Given the description of an element on the screen output the (x, y) to click on. 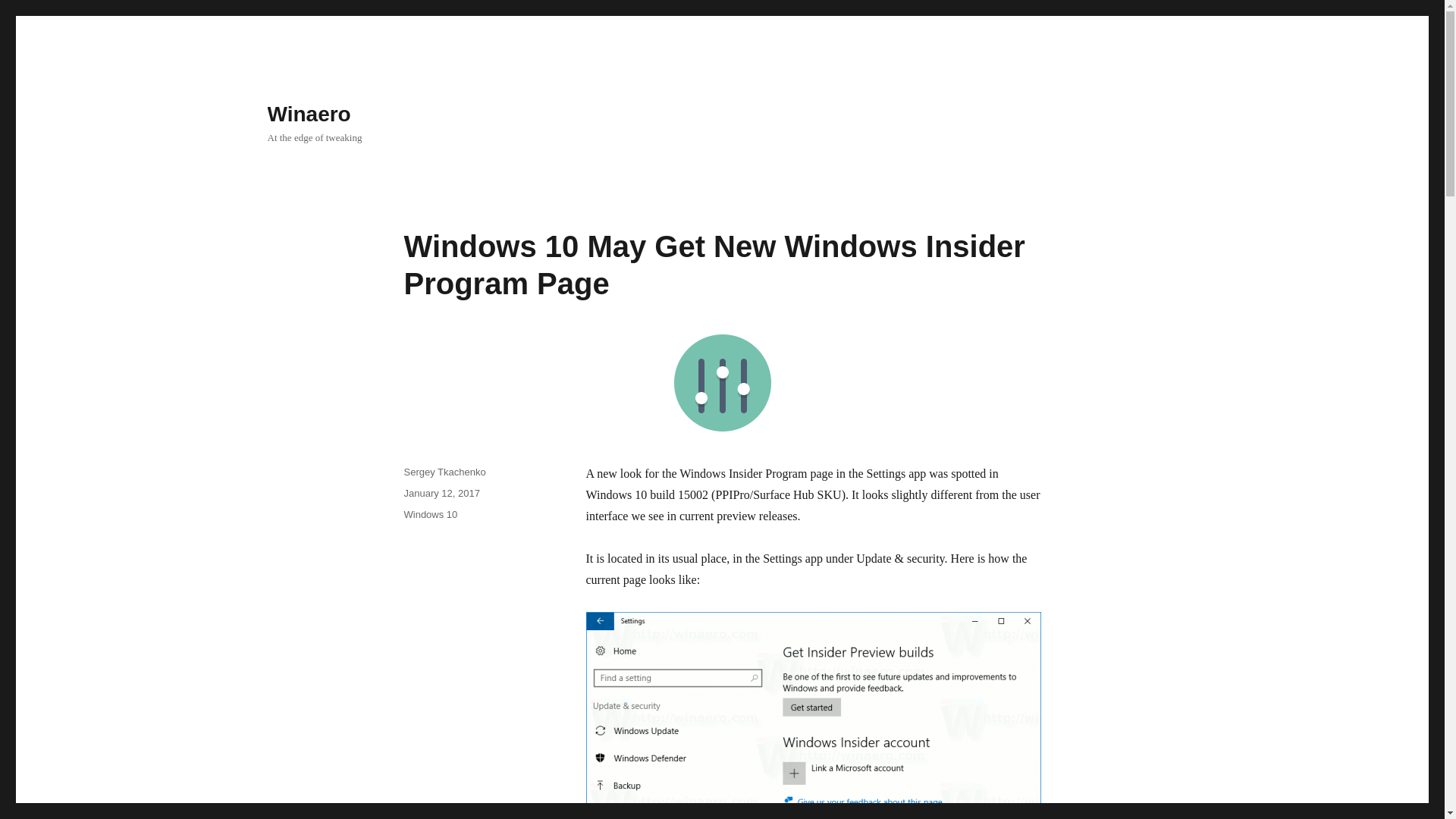
Sergey Tkachenko (443, 471)
Windows 10 (430, 514)
January 12, 2017 (441, 492)
Winaero (308, 114)
